Given the description of an element on the screen output the (x, y) to click on. 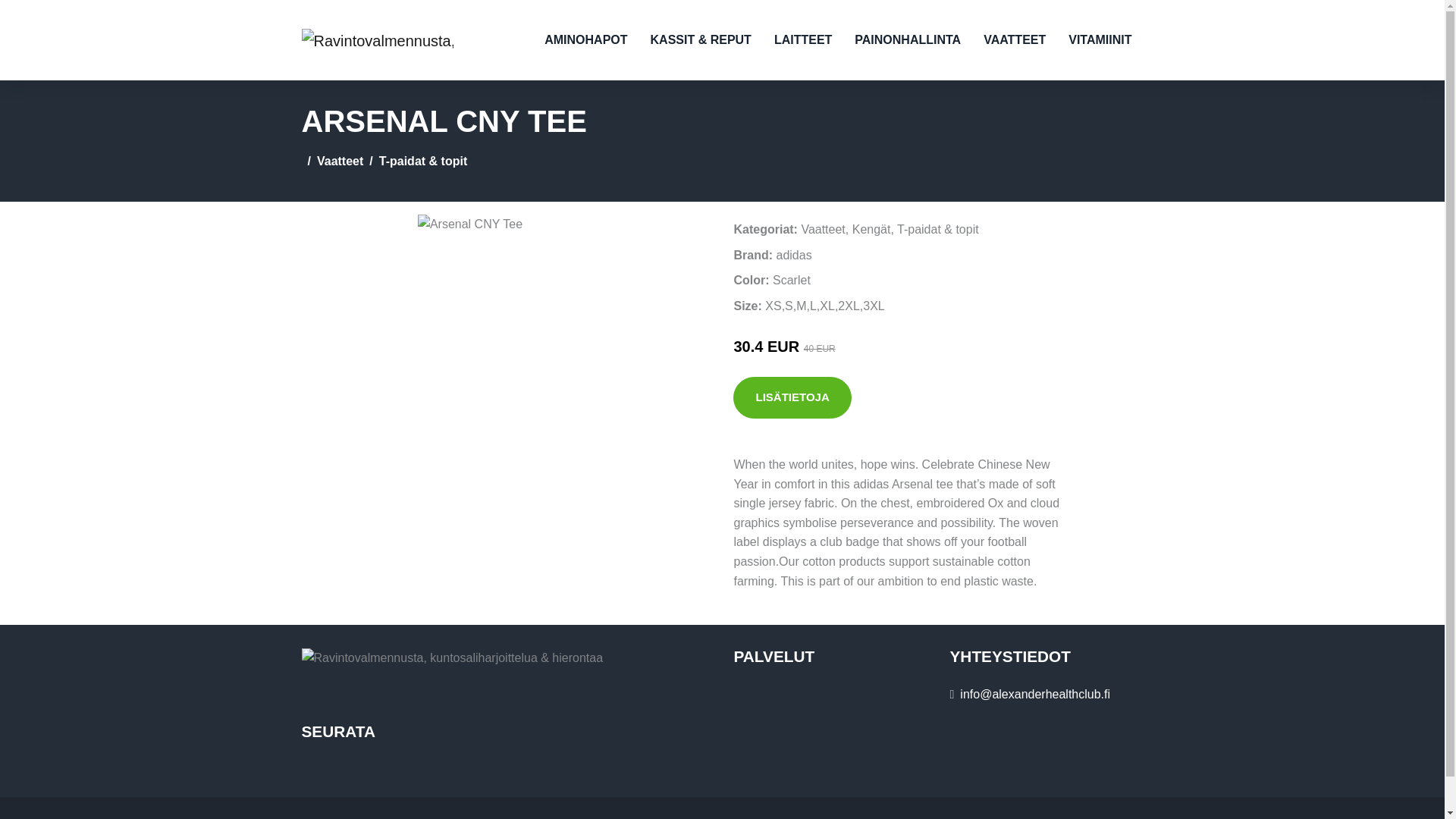
Vaatteet (339, 160)
VAATTEET (1014, 40)
LAITTEET (802, 40)
Vaatteet (822, 228)
PAINONHALLINTA (907, 40)
AMINOHAPOT (585, 40)
Blogi (813, 816)
VITAMIINIT (1099, 40)
